Given the description of an element on the screen output the (x, y) to click on. 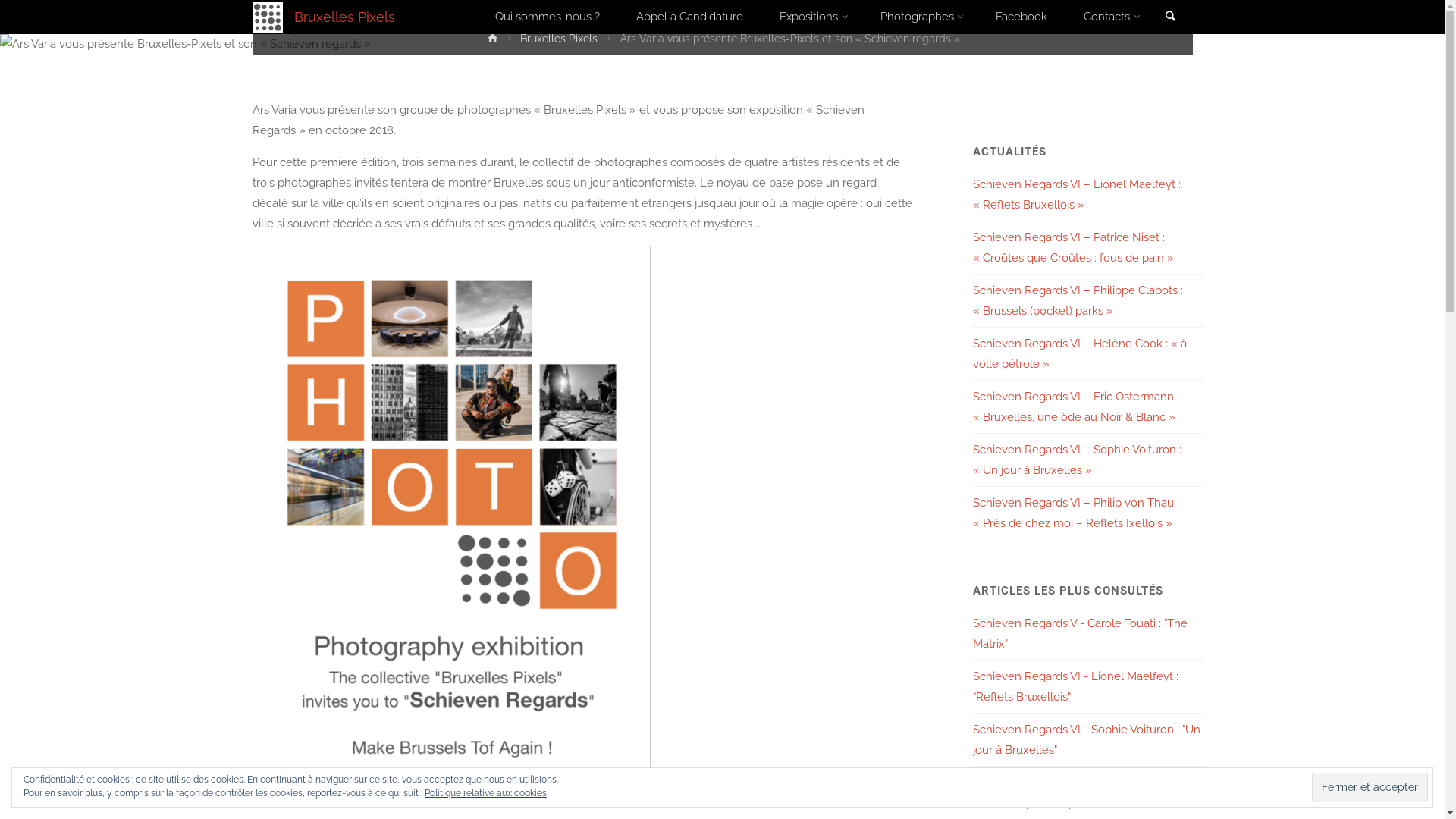
Bruxelles Pixels Element type: text (558, 40)
Expositions Element type: text (811, 17)
Bruxelles Pixels Element type: hover (266, 16)
Contacts Element type: text (1109, 17)
Schieven Regards V - Carole Touati : "The Matrix" Element type: text (1079, 632)
Bruxelles Pixels Element type: text (344, 17)
Fermer et accepter Element type: text (1369, 787)
Politique relative aux cookies Element type: text (485, 792)
Schieven Regards VI - Lionel Maelfeyt : "Reflets Bruxellois" Element type: text (1074, 685)
Photographes Element type: text (919, 17)
Search Element type: text (1170, 17)
Qui sommes-nous ? Element type: text (547, 17)
Facebook Element type: text (1021, 17)
Home Element type: hover (492, 40)
